Given the description of an element on the screen output the (x, y) to click on. 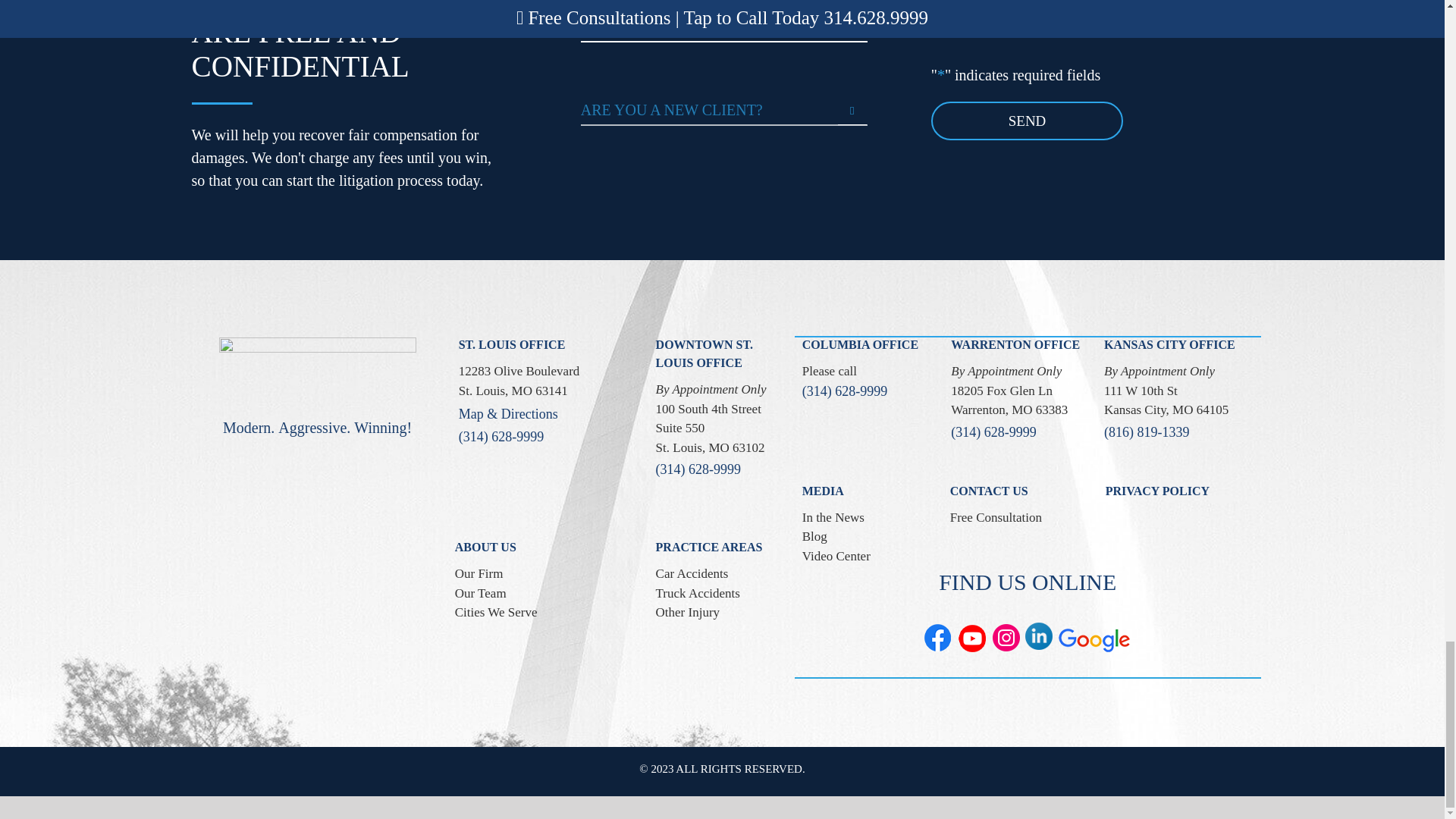
Send (1027, 120)
